Given the description of an element on the screen output the (x, y) to click on. 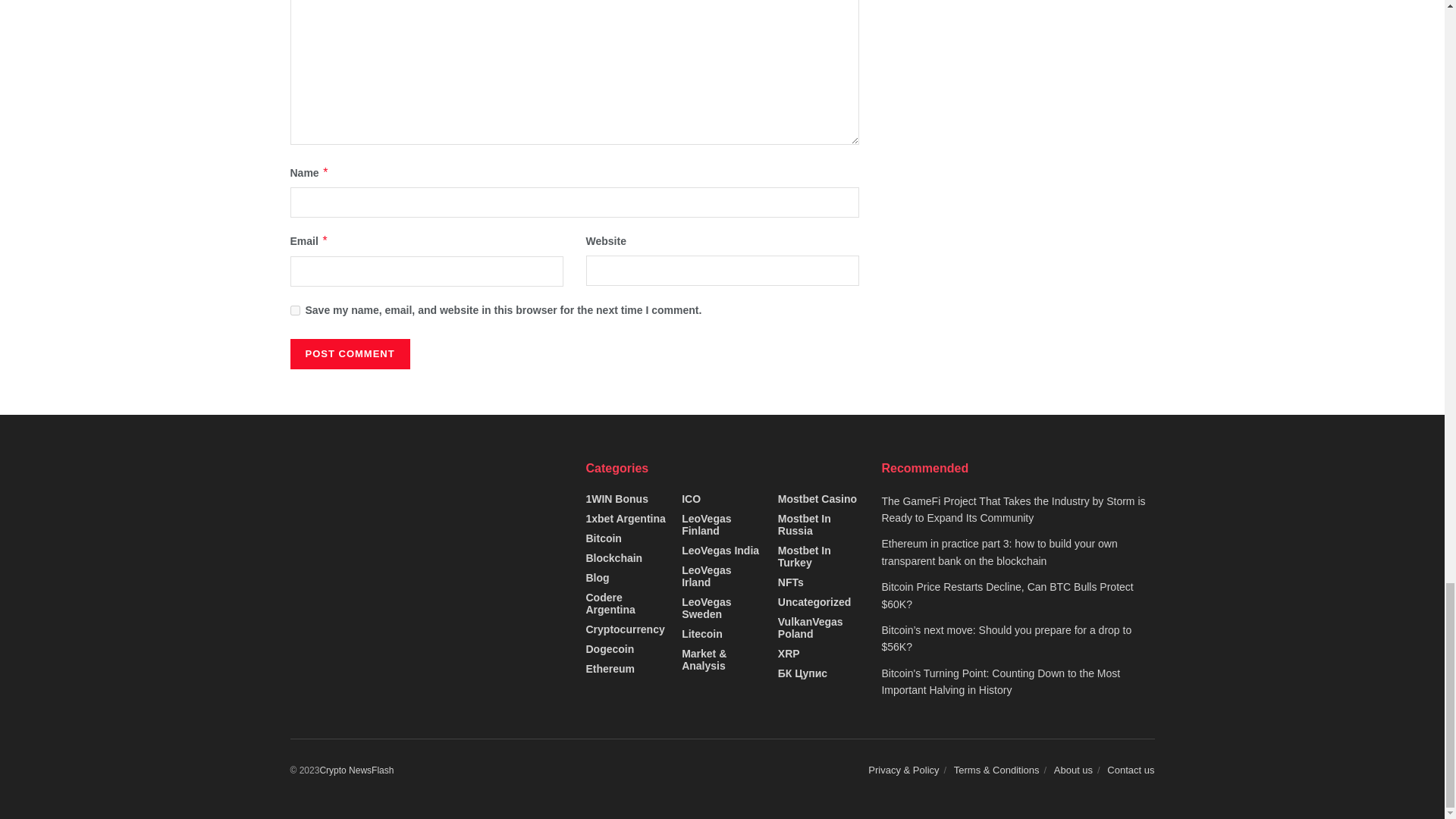
Post Comment (349, 354)
yes (294, 310)
Premium news  (355, 769)
